Given the description of an element on the screen output the (x, y) to click on. 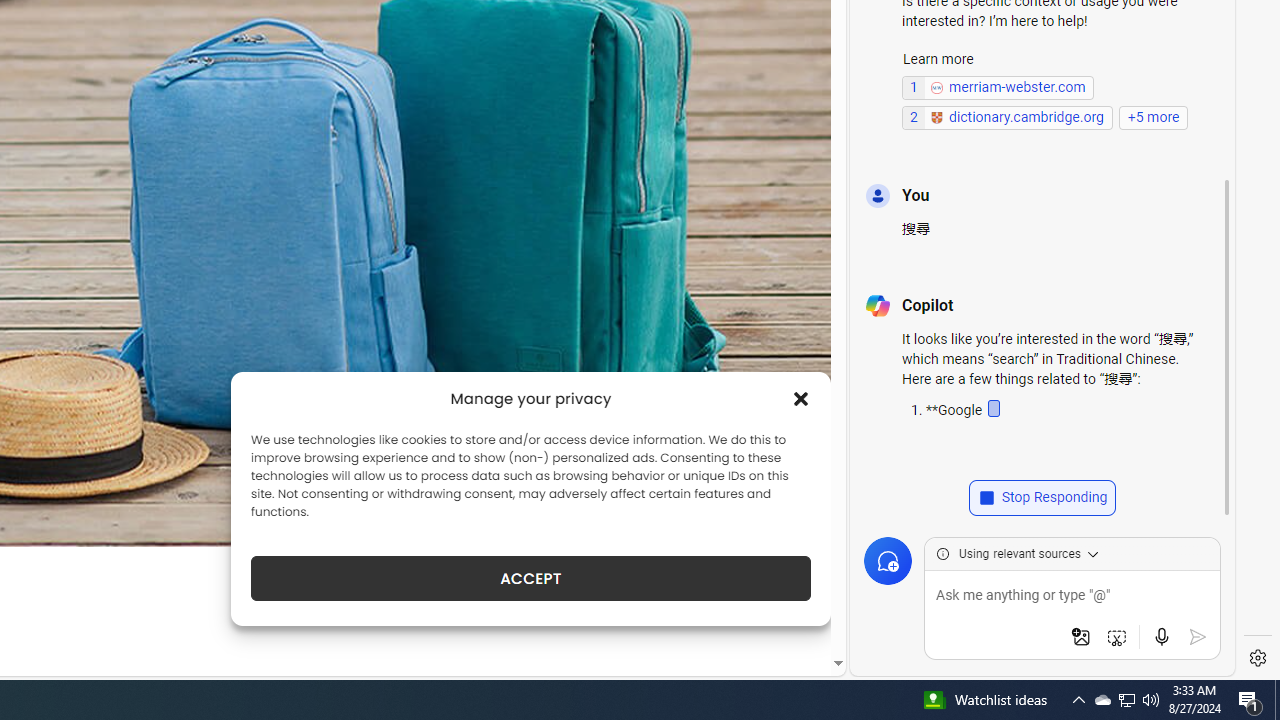
Class: cmplz-close (801, 398)
ACCEPT (530, 578)
